Given the description of an element on the screen output the (x, y) to click on. 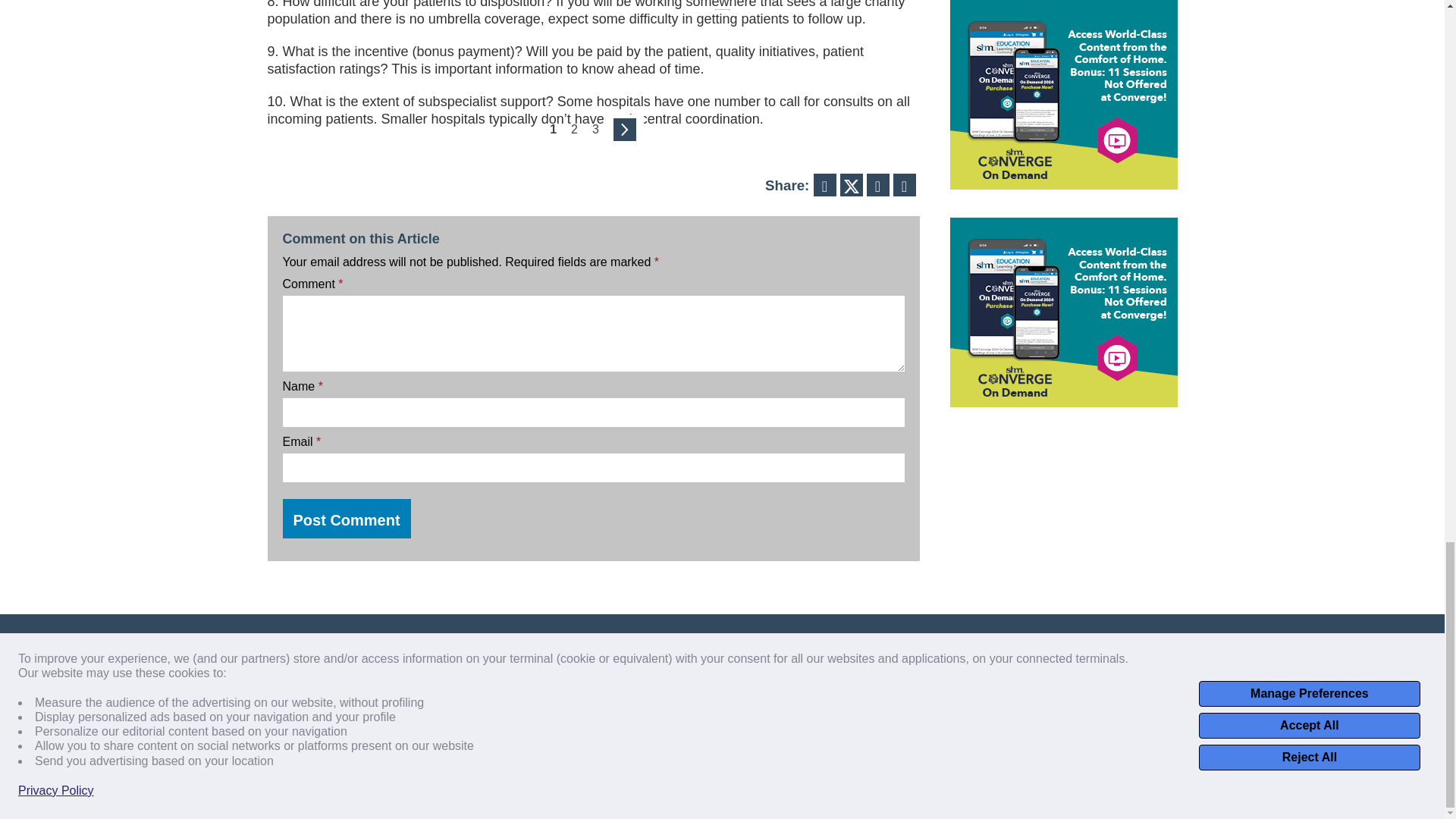
Post Comment (346, 518)
